Given the description of an element on the screen output the (x, y) to click on. 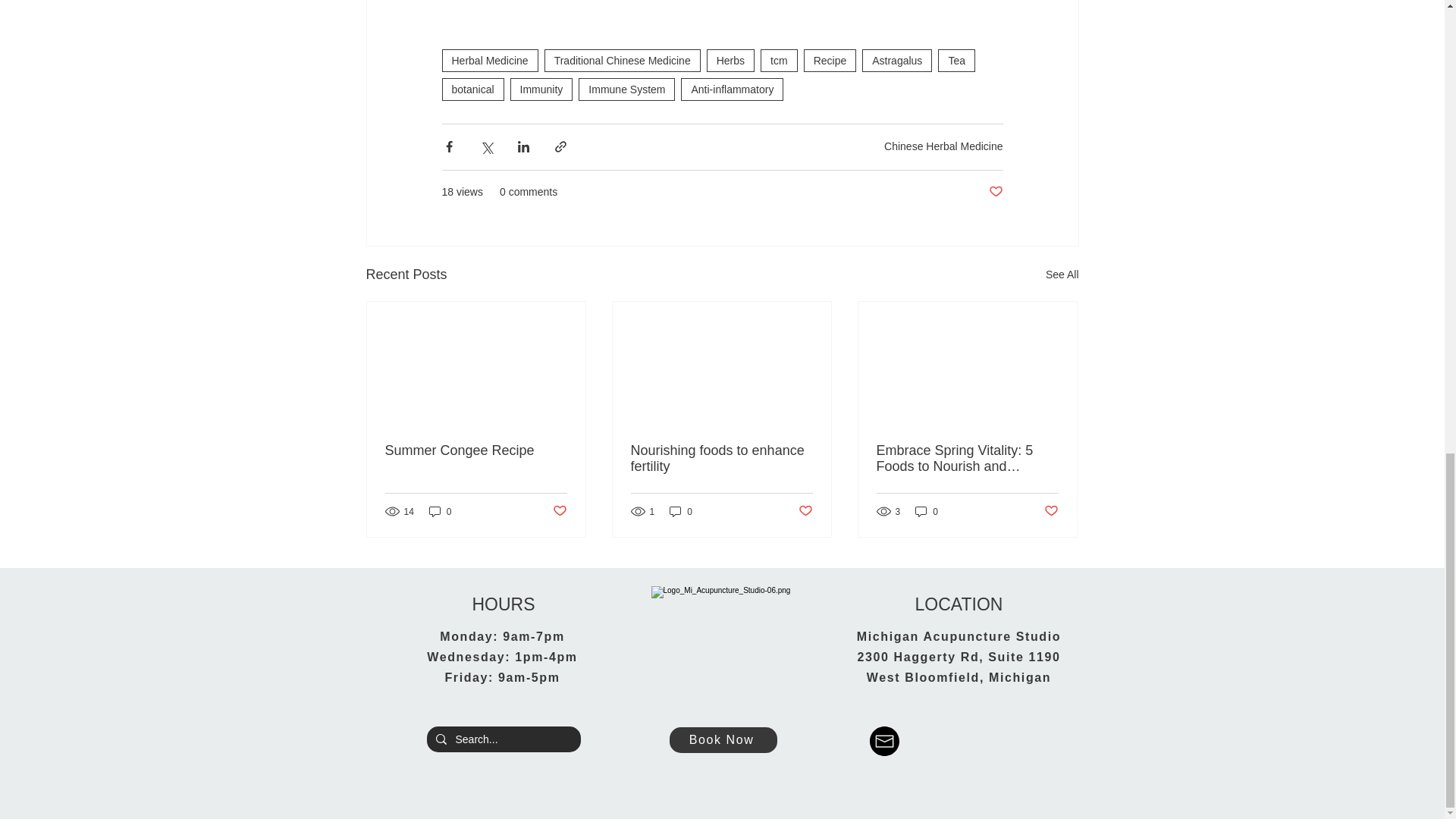
Immune System (626, 88)
Recipe (830, 60)
Astragalus (896, 60)
tcm (778, 60)
Herbal Medicine (489, 60)
Immunity (542, 88)
Traditional Chinese Medicine (622, 60)
Tea (956, 60)
botanical (472, 88)
Herbs (730, 60)
